Given the description of an element on the screen output the (x, y) to click on. 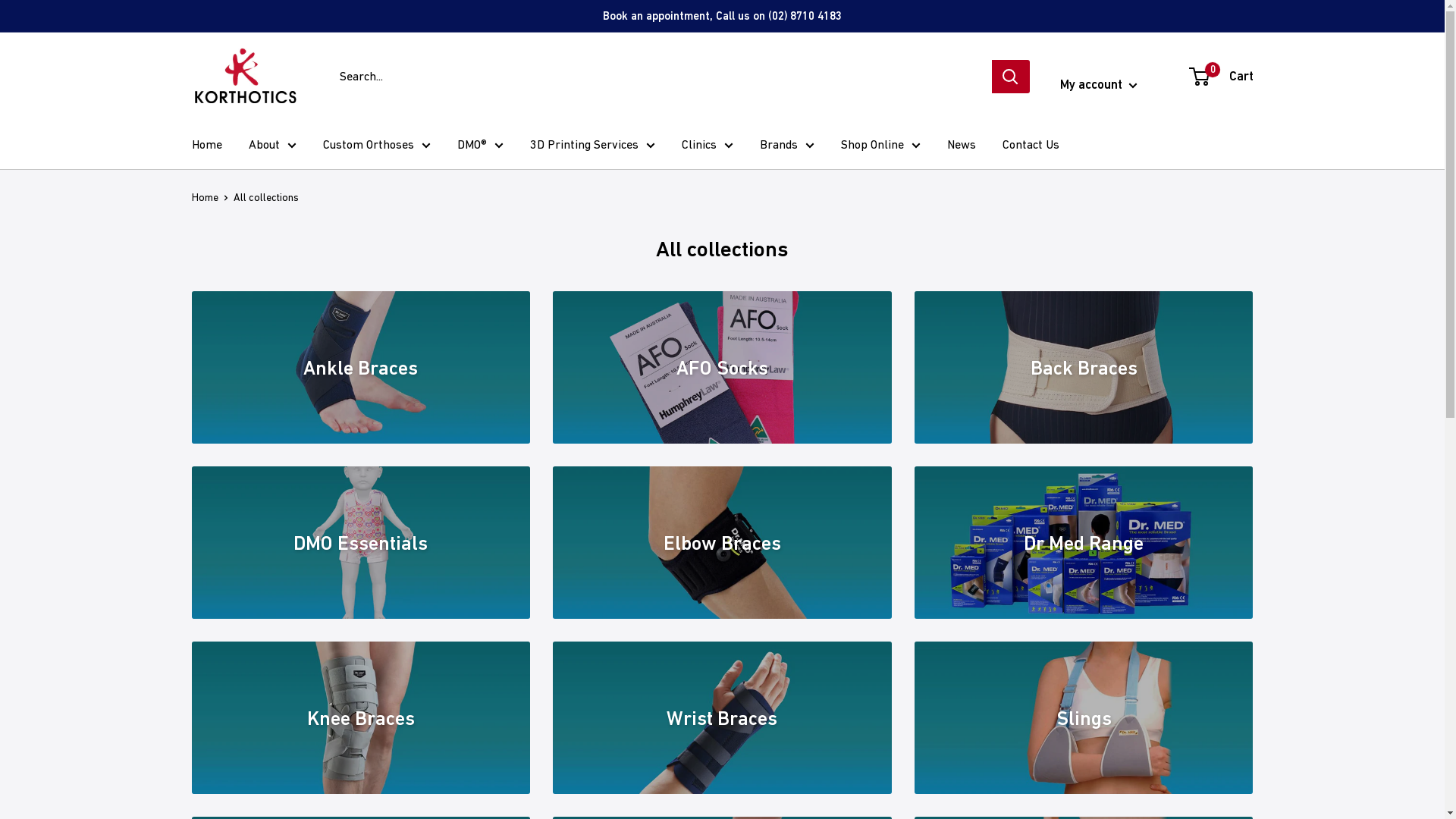
Custom Orthoses Element type: text (376, 144)
0
Cart Element type: text (1221, 76)
Slings Element type: text (1083, 717)
About Element type: text (272, 144)
AFO Socks Element type: text (721, 367)
DMO Essentials Element type: text (360, 542)
My account Element type: text (1098, 84)
Brands Element type: text (786, 144)
News Element type: text (960, 144)
Contact Us Element type: text (1030, 144)
Ankle Braces Element type: text (360, 367)
Back Braces Element type: text (1083, 367)
Clinics Element type: text (706, 144)
Knee Braces Element type: text (360, 717)
Wrist Braces Element type: text (721, 717)
Dr Med Range Element type: text (1083, 542)
Elbow Braces Element type: text (721, 542)
3D Printing Services Element type: text (591, 144)
Home Element type: text (206, 144)
Home Element type: text (204, 197)
Shop Online Element type: text (879, 144)
Book an appointment, Call us on (02) 8710 4183 Element type: text (721, 15)
